Given the description of an element on the screen output the (x, y) to click on. 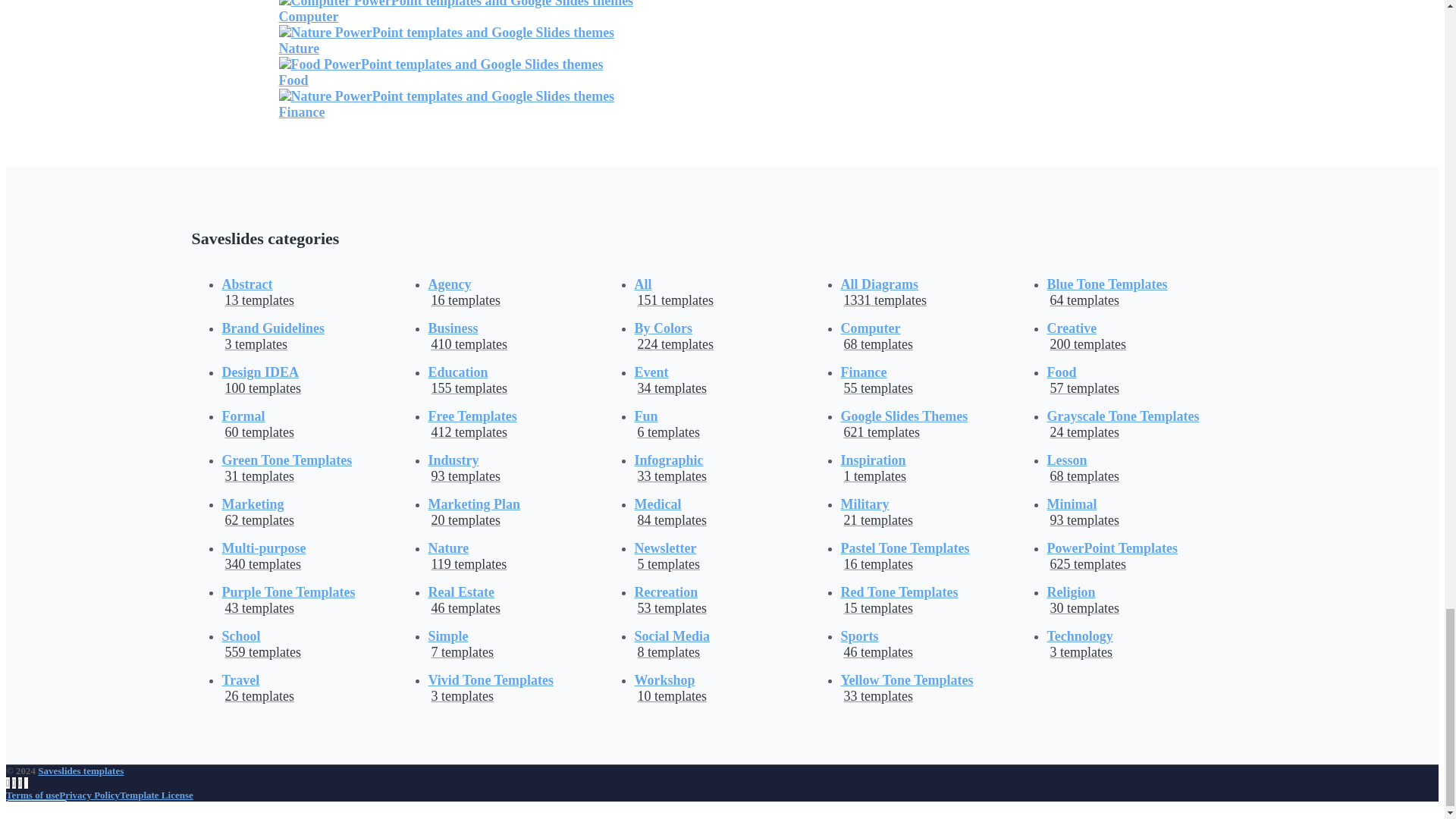
 Best website where you can find free PowerPoint Templates (80, 770)
Finance PowerPoint templates and Google Slides themes (446, 103)
Food PowerPoint templates and Google Slides themes (441, 71)
Privacy Policy (89, 794)
Science PowerPoint templates and Google Slides themes (456, 12)
Tech PowerPoint templates and Google Slides themes (446, 40)
